Given the description of an element on the screen output the (x, y) to click on. 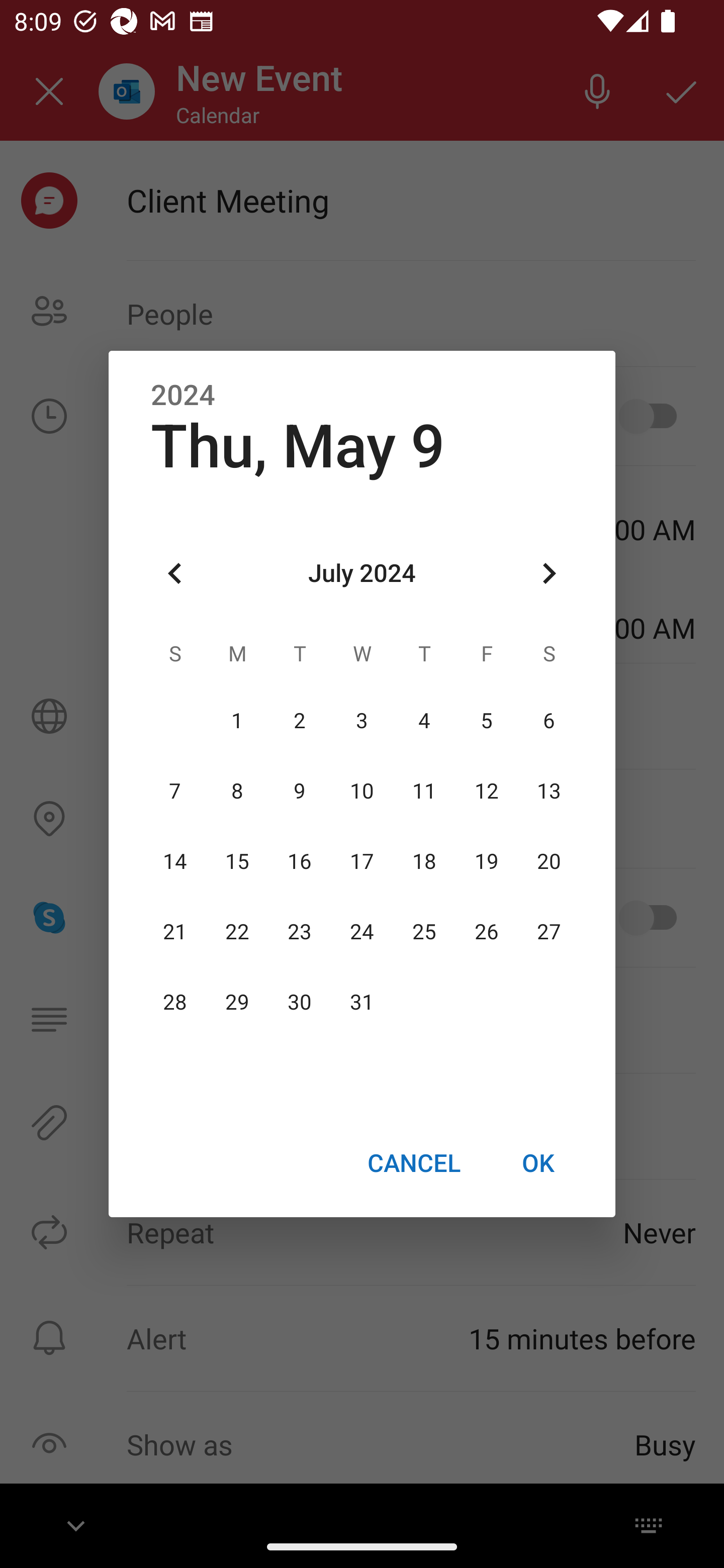
2024 (182, 395)
Thu, May 9 (297, 446)
Previous month (174, 573)
Next month (548, 573)
1 01 July 2024 (237, 720)
2 02 July 2024 (299, 720)
3 03 July 2024 (361, 720)
4 04 July 2024 (424, 720)
5 05 July 2024 (486, 720)
6 06 July 2024 (548, 720)
7 07 July 2024 (175, 790)
8 08 July 2024 (237, 790)
9 09 July 2024 (299, 790)
10 10 July 2024 (361, 790)
11 11 July 2024 (424, 790)
12 12 July 2024 (486, 790)
13 13 July 2024 (548, 790)
14 14 July 2024 (175, 861)
15 15 July 2024 (237, 861)
16 16 July 2024 (299, 861)
17 17 July 2024 (361, 861)
18 18 July 2024 (424, 861)
19 19 July 2024 (486, 861)
20 20 July 2024 (548, 861)
21 21 July 2024 (175, 931)
22 22 July 2024 (237, 931)
23 23 July 2024 (299, 931)
24 24 July 2024 (361, 931)
25 25 July 2024 (424, 931)
26 26 July 2024 (486, 931)
27 27 July 2024 (548, 931)
28 28 July 2024 (175, 1002)
29 29 July 2024 (237, 1002)
30 30 July 2024 (299, 1002)
31 31 July 2024 (361, 1002)
CANCEL (413, 1162)
OK (537, 1162)
